Given the description of an element on the screen output the (x, y) to click on. 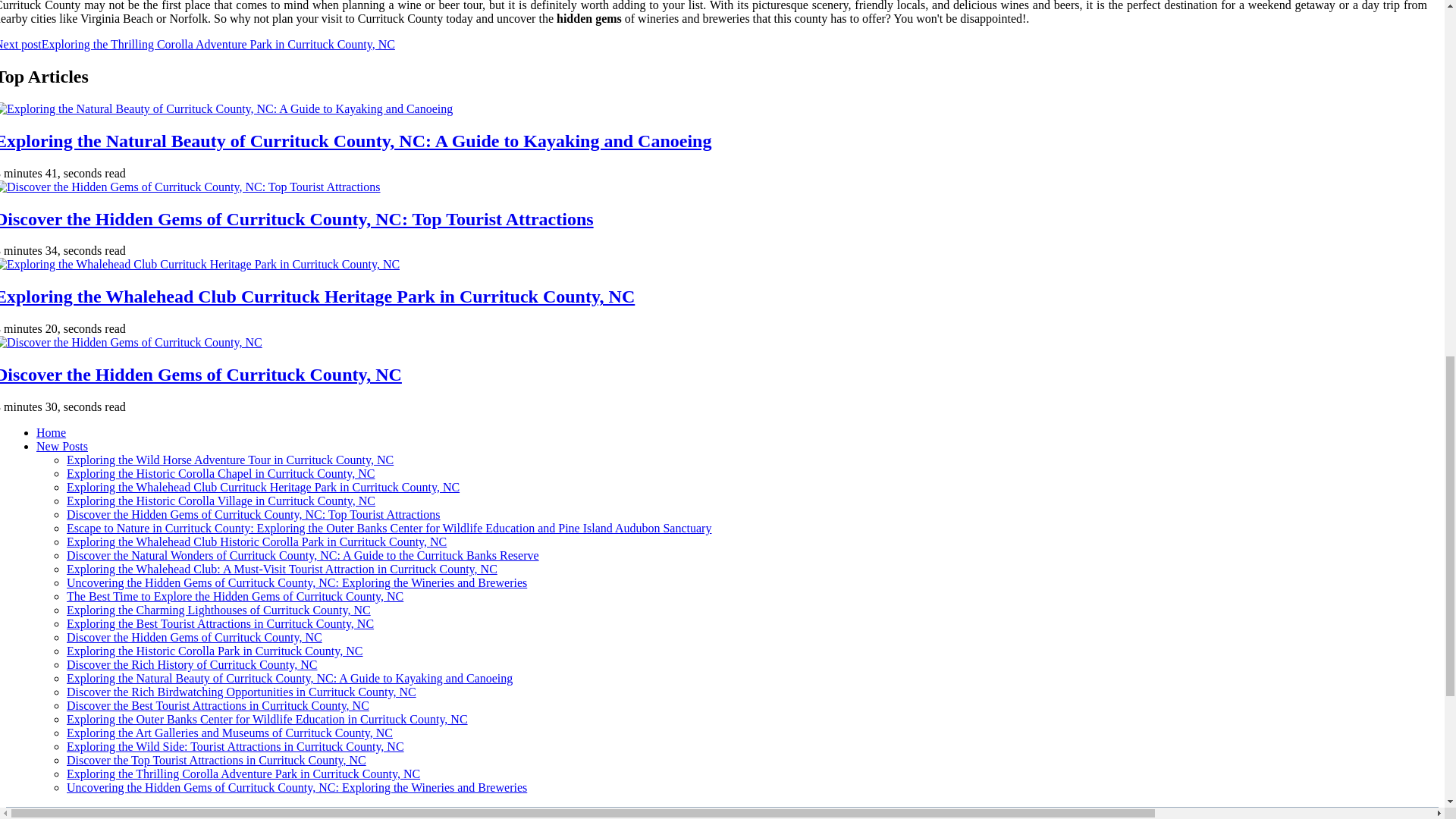
Exploring the Charming Lighthouses of Currituck County, NC (218, 609)
Home (50, 431)
